Given the description of an element on the screen output the (x, y) to click on. 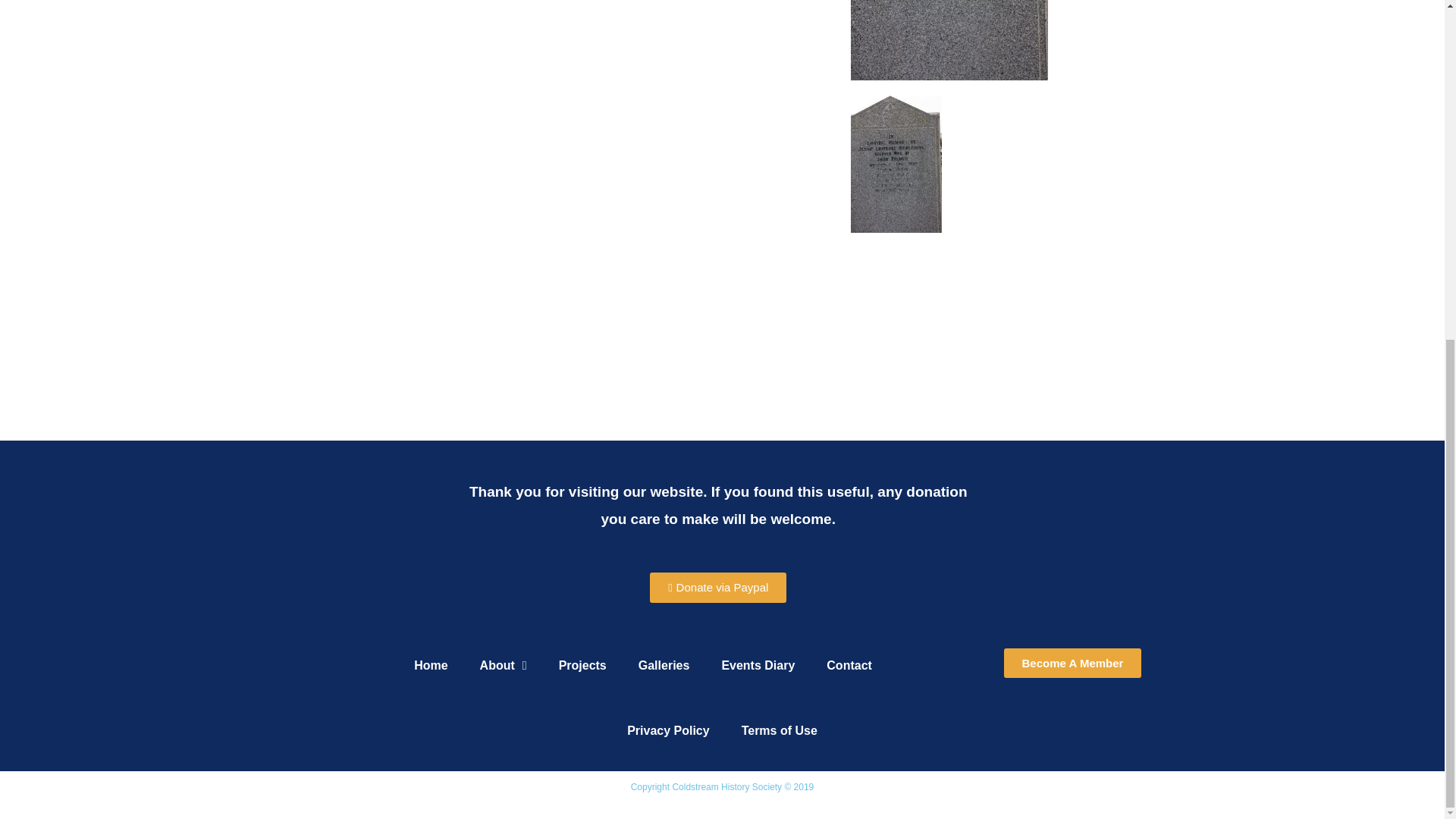
Home (430, 665)
About (502, 665)
Galleries (663, 665)
Contact (848, 665)
Events Diary (757, 665)
Projects (582, 665)
Donate via Paypal (717, 587)
